Given the description of an element on the screen output the (x, y) to click on. 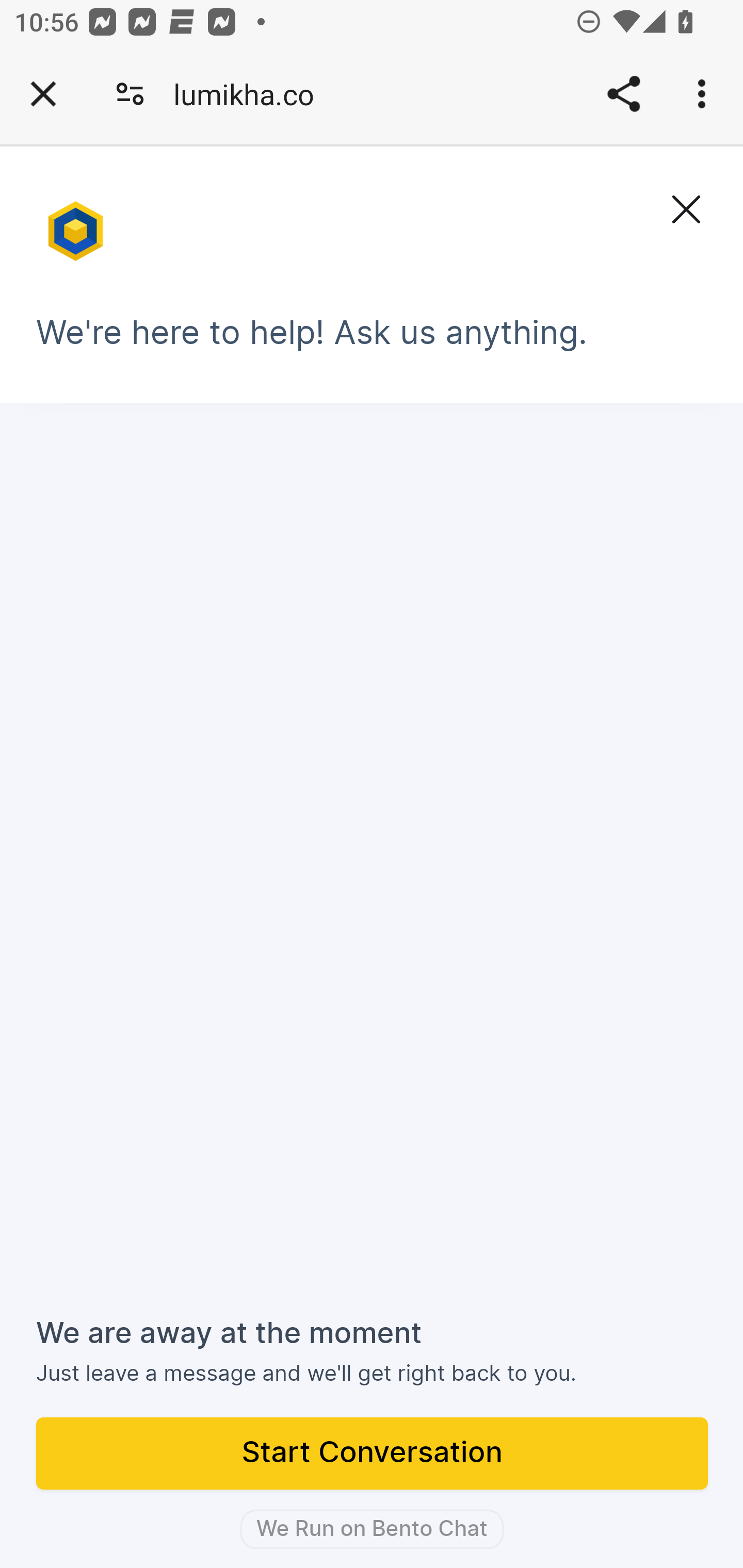
Close tab (43, 93)
Share (623, 93)
Customize and control Google Chrome (705, 93)
Connection is secure (129, 93)
lumikha.co (250, 93)
LUMI-ID-Avatar_Transparent-640w (77, 222)
Start Conversation (372, 1454)
We Run on Bento Chat (371, 1529)
